Given the description of an element on the screen output the (x, y) to click on. 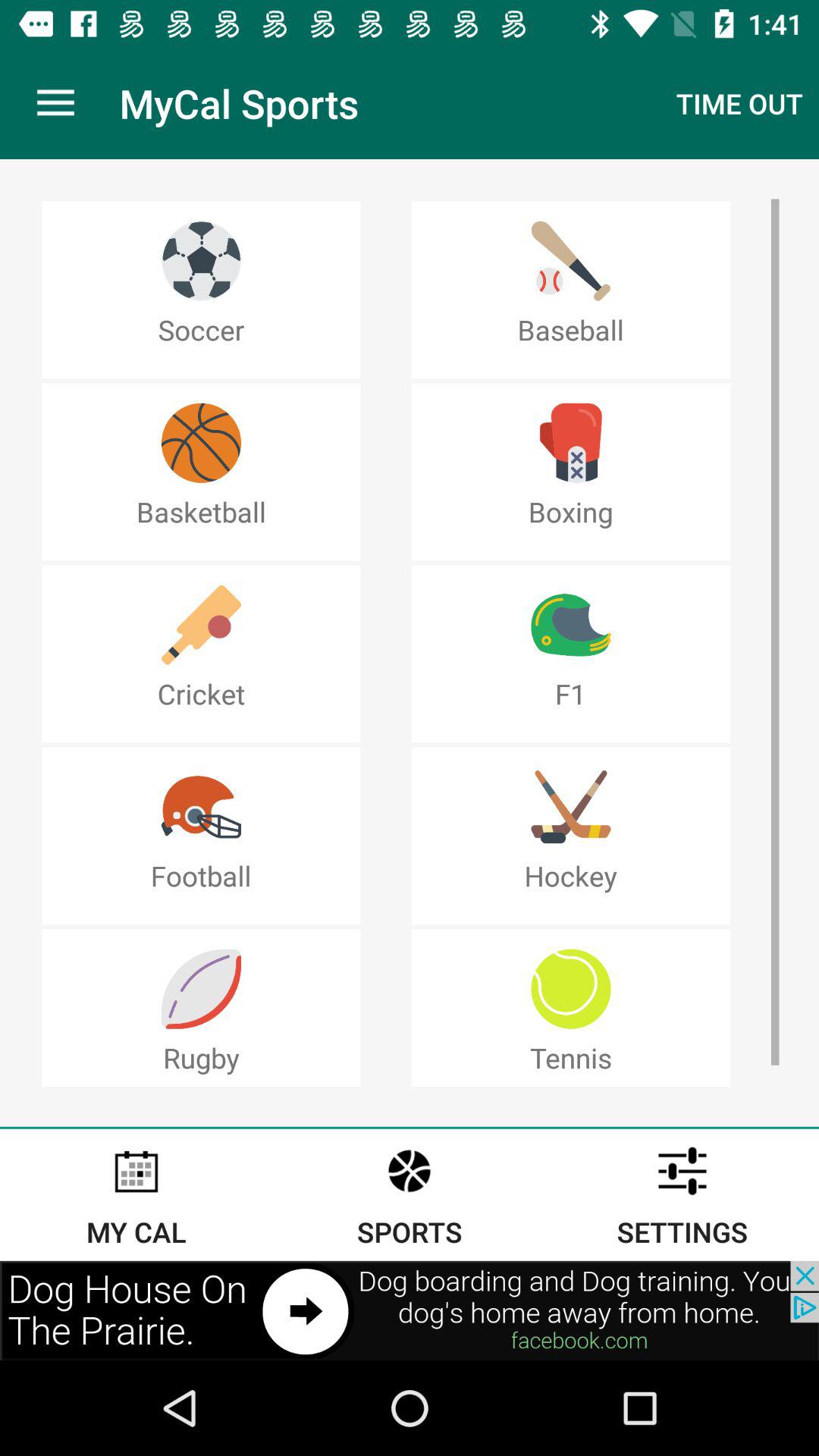
advertisement link banner (409, 1310)
